Given the description of an element on the screen output the (x, y) to click on. 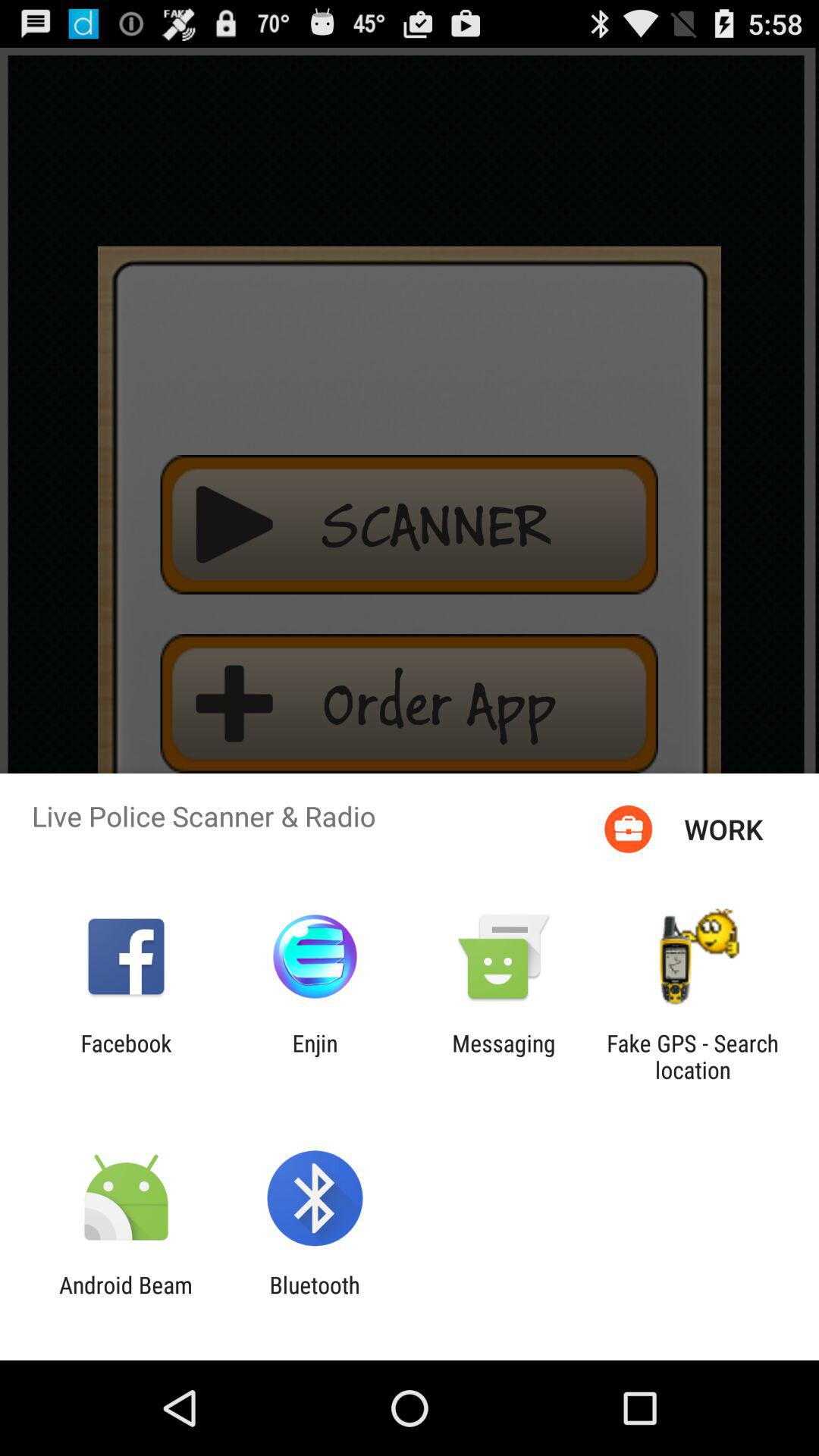
turn off app next to messaging (692, 1056)
